Given the description of an element on the screen output the (x, y) to click on. 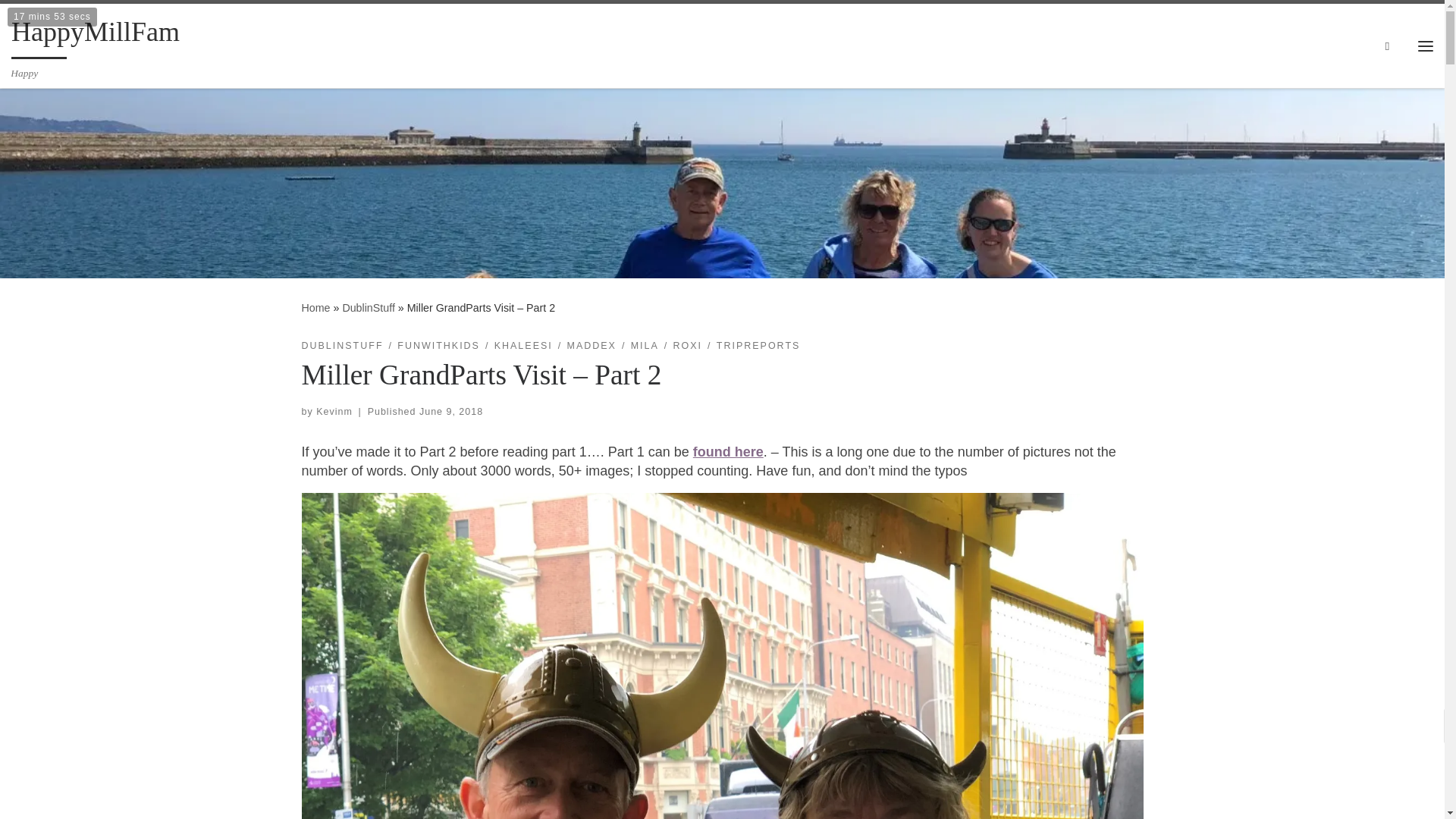
DublinStuff (368, 307)
View all posts by Kevinm (333, 411)
MADDEX (591, 345)
MILA (644, 345)
View all posts in Maddex (591, 345)
07:00 (451, 411)
FUNWITHKIDS (438, 345)
View all posts in Mila (644, 345)
View all posts in FunWithKids (438, 345)
June 9, 2018 (451, 411)
Skip to content (60, 20)
KHALEESI (524, 345)
View all posts in Roxi (687, 345)
found here (727, 451)
DublinStuff (368, 307)
